Given the description of an element on the screen output the (x, y) to click on. 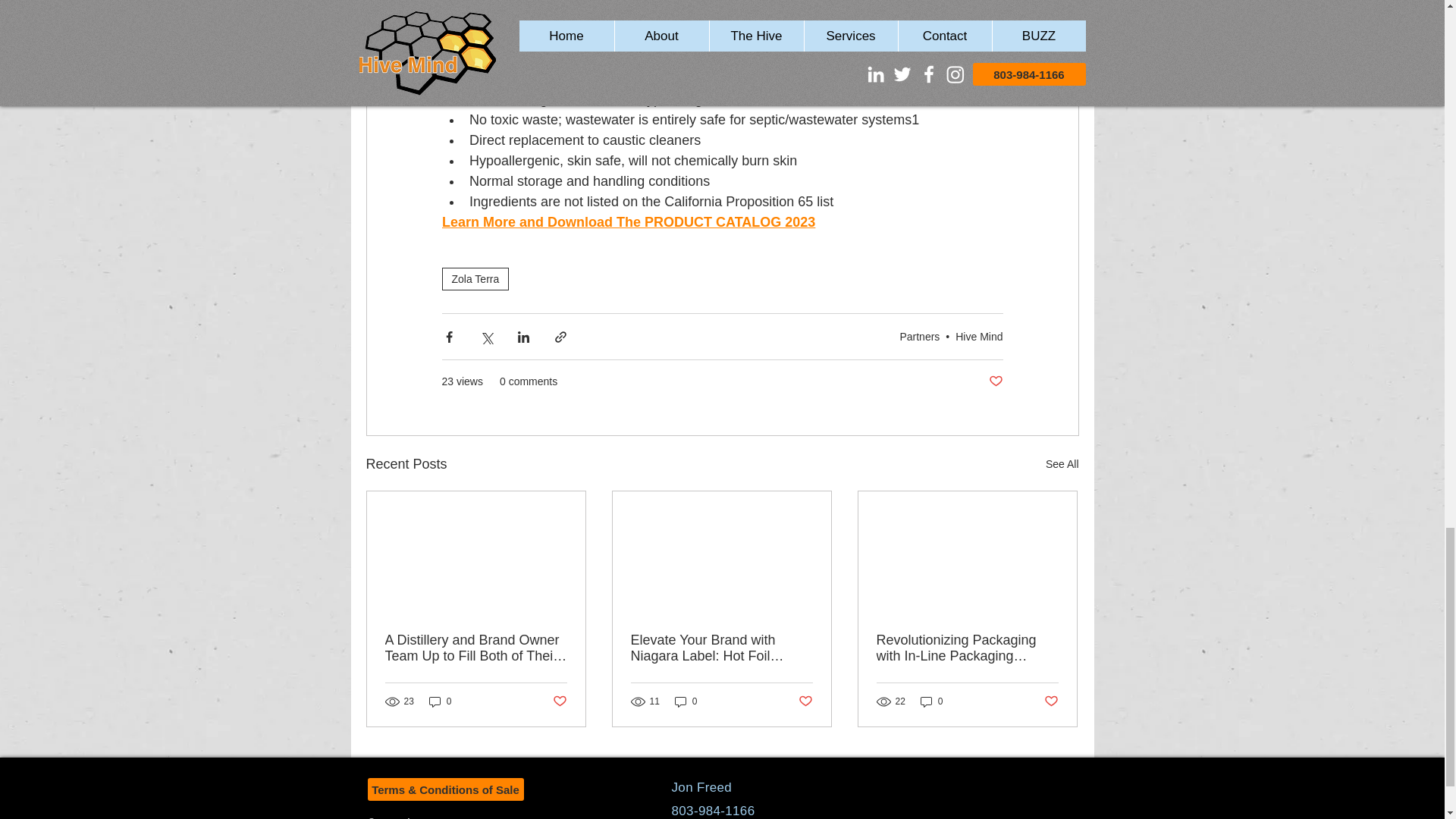
0 (931, 701)
Post not marked as liked (804, 701)
See All (1061, 464)
Post not marked as liked (558, 701)
Hive Mind (979, 336)
Partners (919, 336)
Post not marked as liked (995, 381)
Zola Terra (474, 278)
Learn More and Download The PRODUCT CATALOG 2023 (627, 222)
Post not marked as liked (1050, 701)
0 (685, 701)
Revolutionizing Packaging with In-Line Packaging Solutions (967, 648)
0 (440, 701)
